Given the description of an element on the screen output the (x, y) to click on. 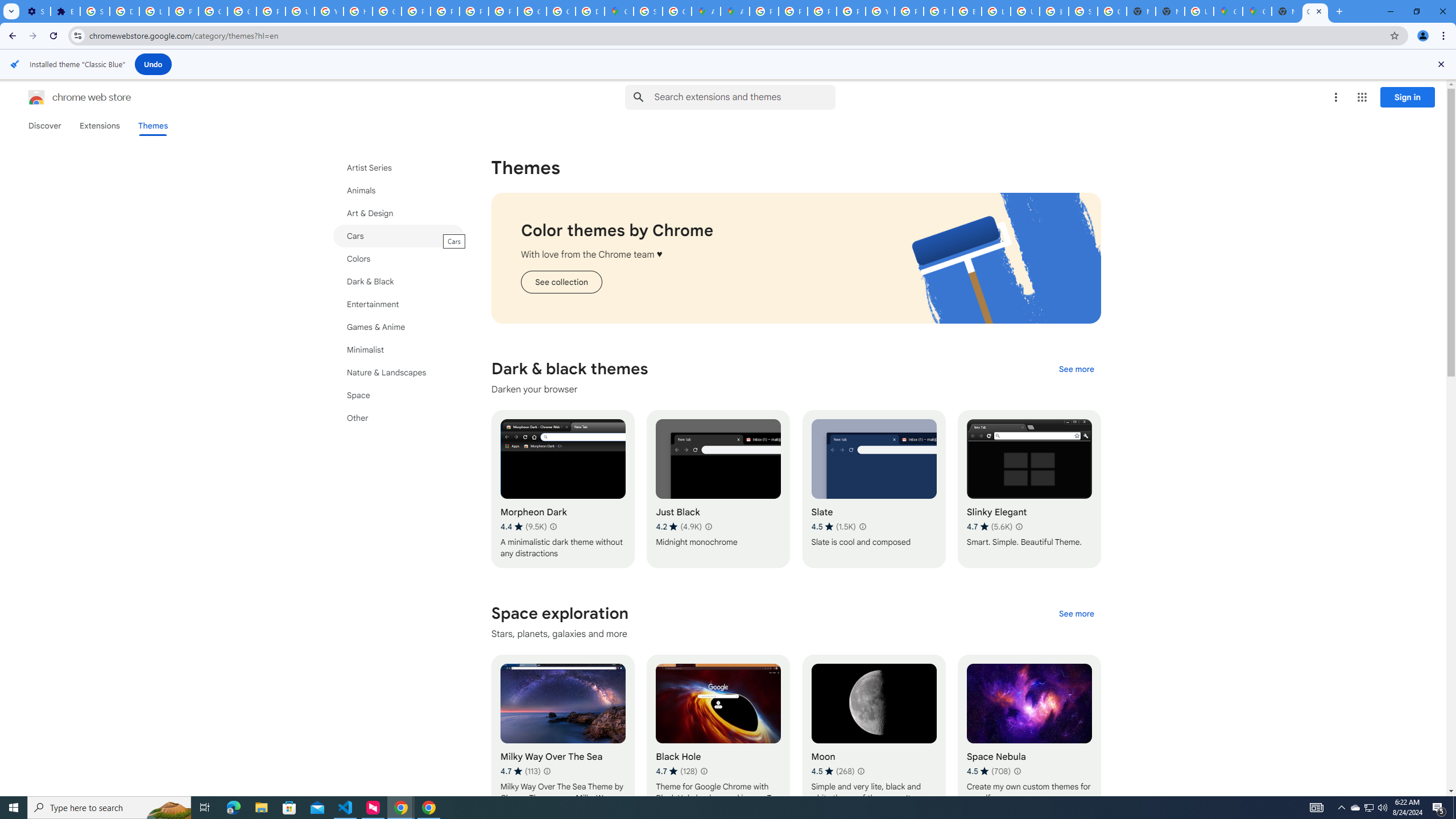
Google Maps (1256, 11)
New Tab (1169, 11)
Learn how to find your photos - Google Photos Help (153, 11)
Browse Chrome as a guest - Computer - Google Chrome Help (967, 11)
New Tab (1286, 11)
Other (398, 418)
Policy Accountability and Transparency - Transparency Center (763, 11)
Cars (398, 235)
Privacy Help Center - Policies Help (415, 11)
Create your Google Account (677, 11)
Chrome Web Store - Themes (1315, 11)
Search input (744, 96)
